Given the description of an element on the screen output the (x, y) to click on. 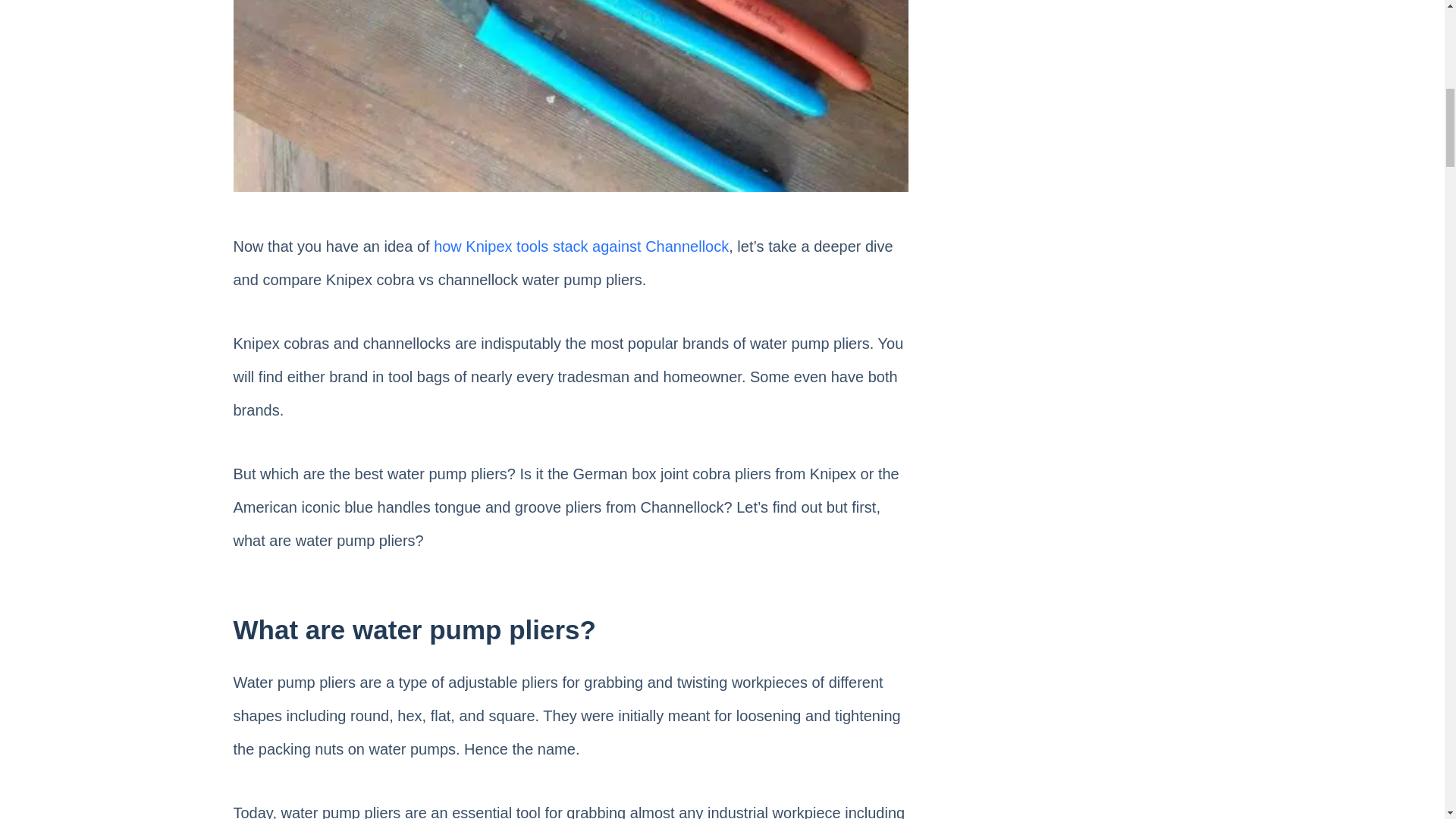
how Knipex tools stack against Channellock (581, 246)
